Given the description of an element on the screen output the (x, y) to click on. 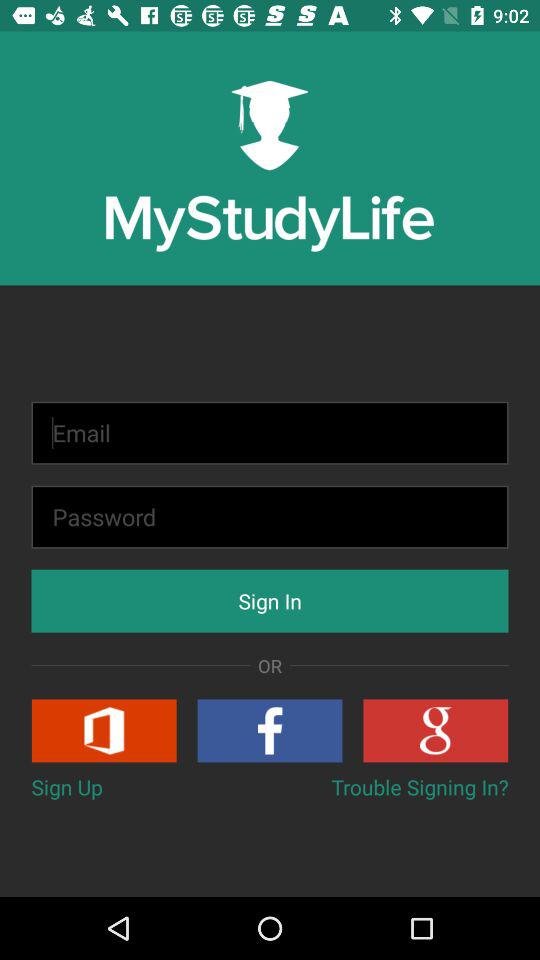
select button next to trouble signing in? item (66, 786)
